Given the description of an element on the screen output the (x, y) to click on. 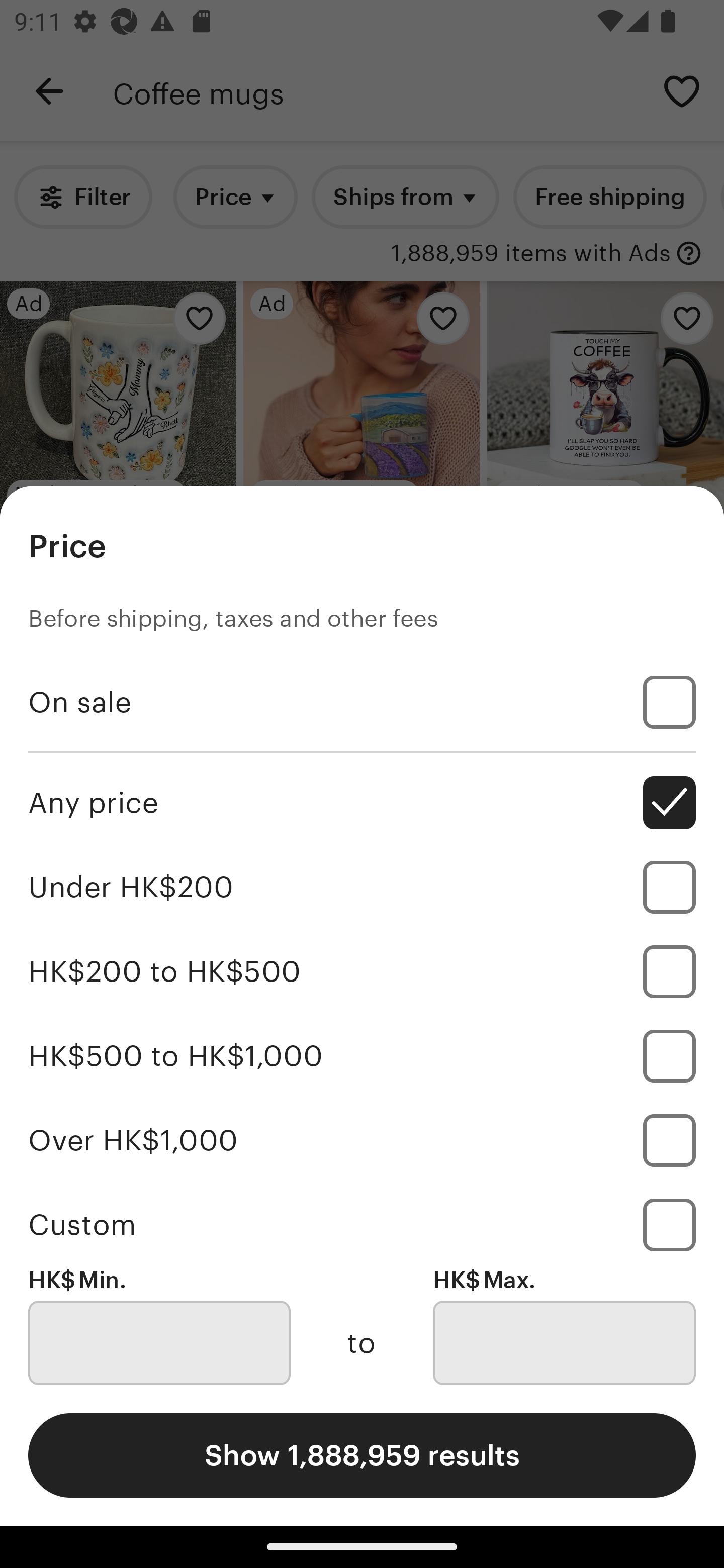
On sale (362, 702)
Any price (362, 802)
Under HK$200 (362, 887)
HK$200 to HK$500 (362, 970)
HK$500 to HK$1,000 (362, 1054)
Over HK$1,000 (362, 1139)
Custom (362, 1224)
Show 1,888,959 results (361, 1454)
